Given the description of an element on the screen output the (x, y) to click on. 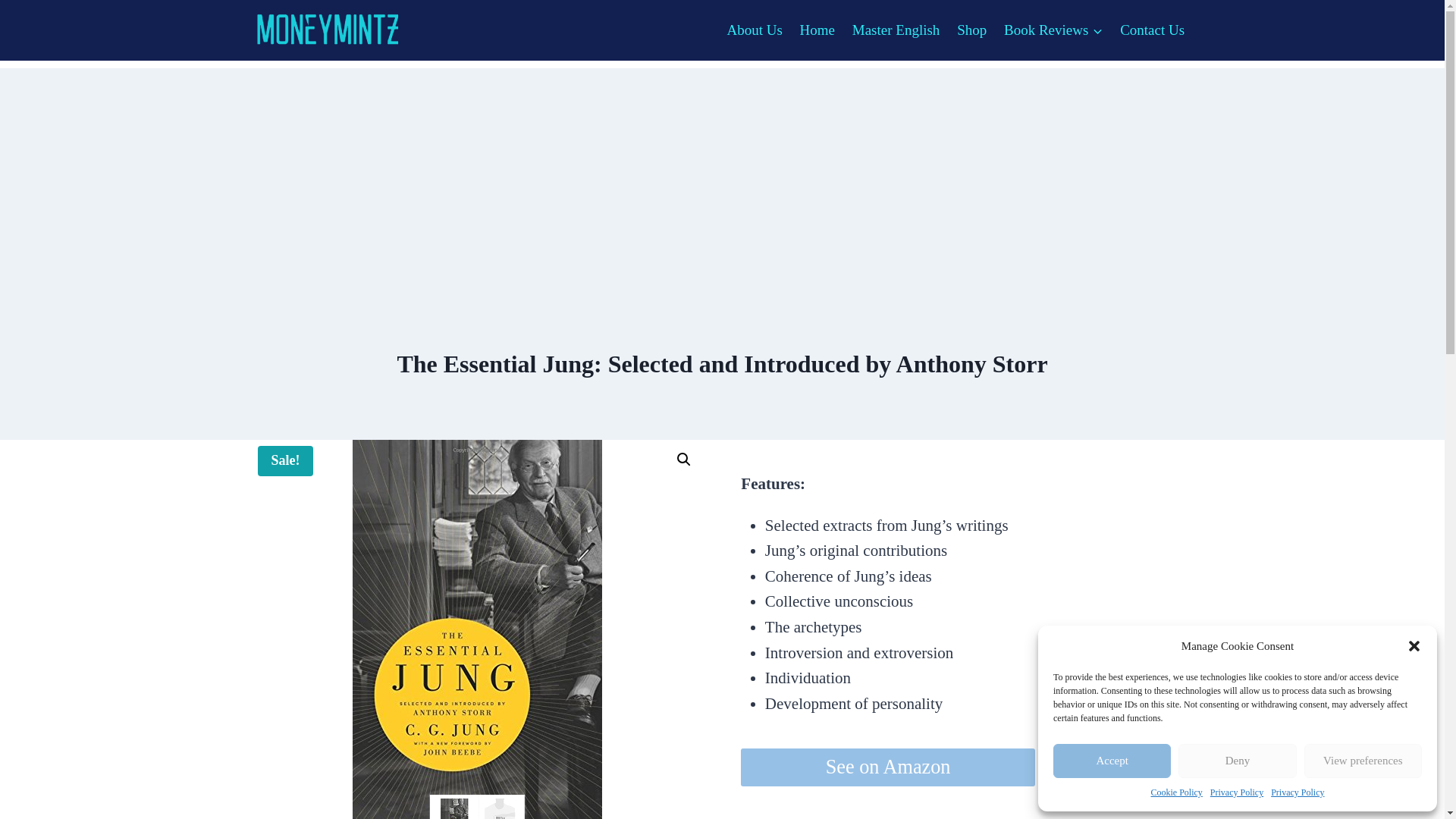
Contact Us (1152, 29)
Cookie Policy (1176, 792)
Deny (1236, 760)
See on Amazon (888, 767)
Home (816, 29)
Shop (972, 29)
View preferences (1363, 760)
About Us (753, 29)
Master English (895, 29)
Book Reviews (1053, 29)
Accept (1111, 760)
Privacy Policy (1236, 792)
Privacy Policy (1297, 792)
